Given the description of an element on the screen output the (x, y) to click on. 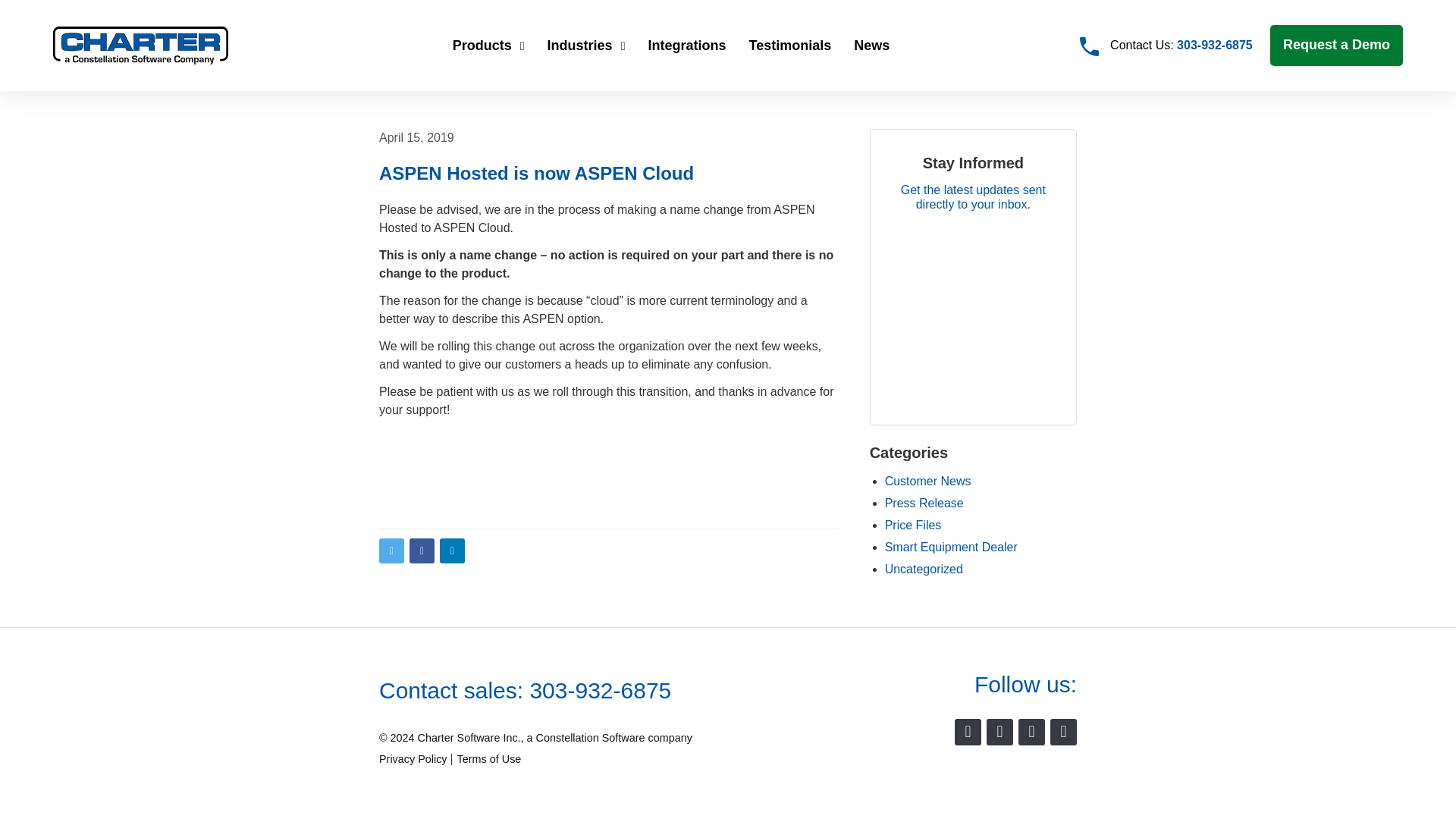
Testimonials (789, 45)
Contact Us: 303-932-6875 (1165, 45)
Testimonials (789, 45)
Integrations (686, 45)
News (872, 45)
Products (488, 45)
Industries (586, 45)
Customer News (928, 481)
Request a Demo (1336, 45)
Integrations (686, 45)
